Given the description of an element on the screen output the (x, y) to click on. 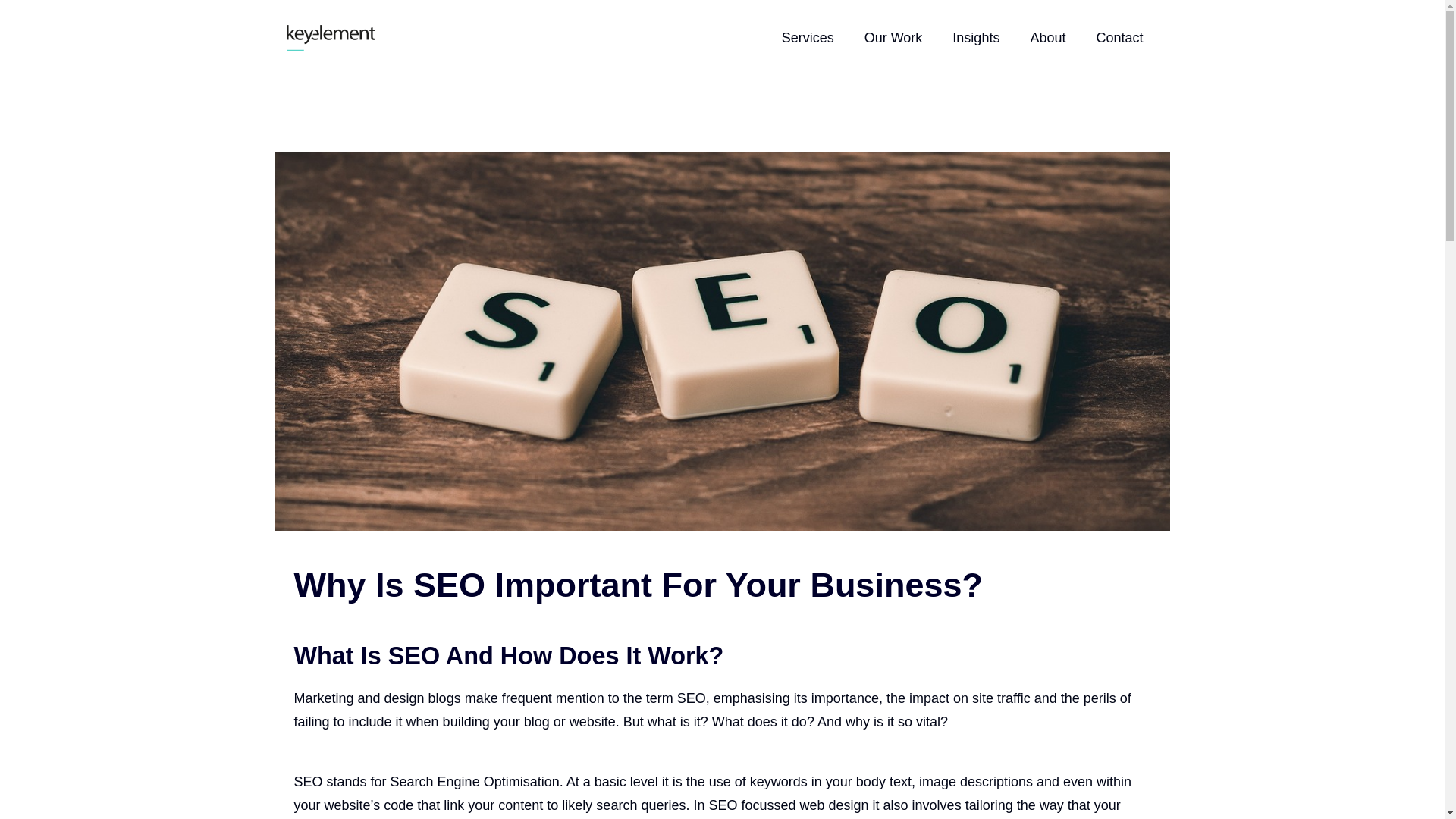
Services (807, 37)
Contact (1118, 37)
Our Work (892, 37)
About (1047, 37)
Insights (975, 37)
